Given the description of an element on the screen output the (x, y) to click on. 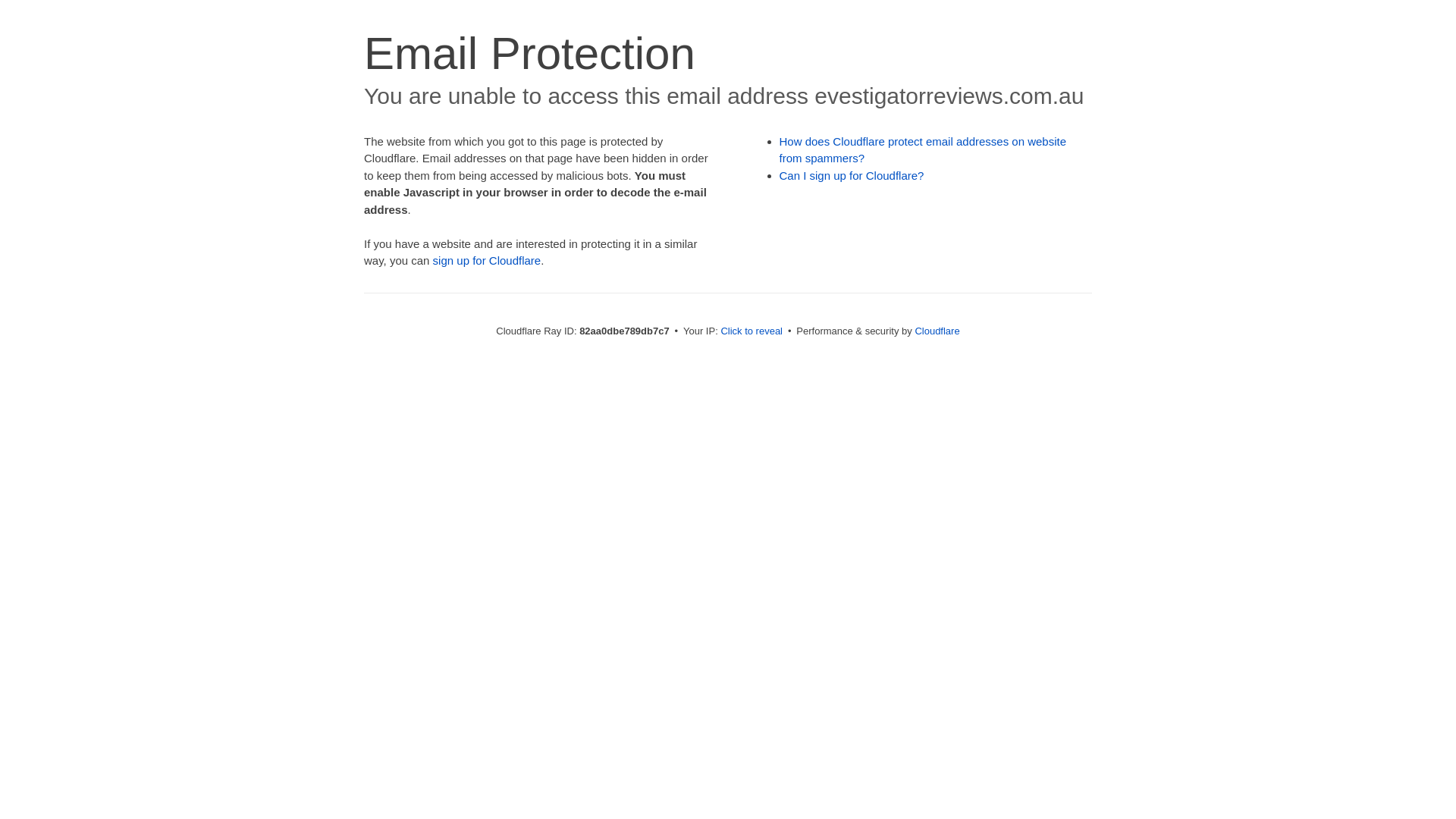
Cloudflare Element type: text (936, 330)
Click to reveal Element type: text (751, 330)
Can I sign up for Cloudflare? Element type: text (851, 175)
sign up for Cloudflare Element type: text (487, 260)
